Given the description of an element on the screen output the (x, y) to click on. 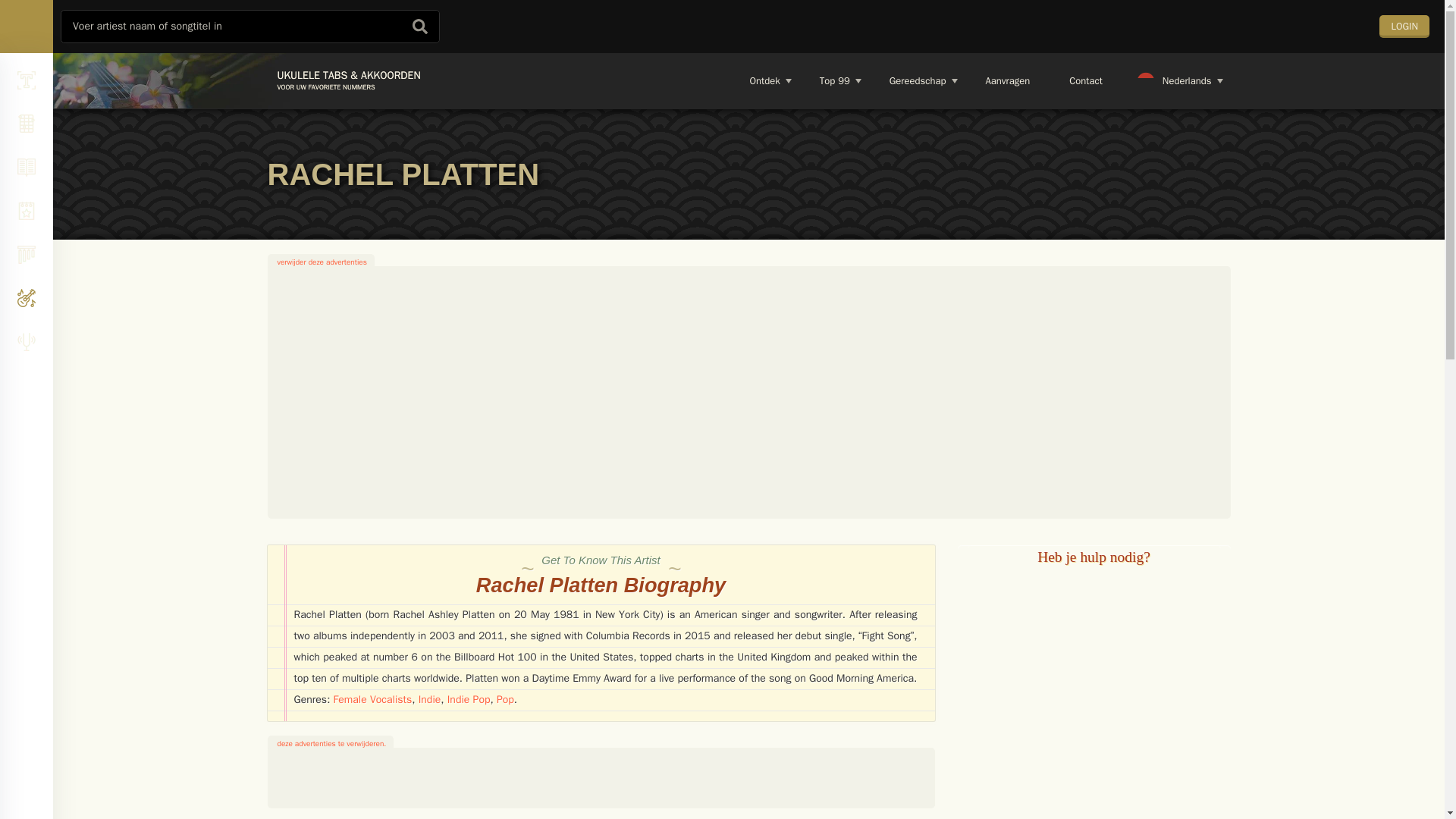
Top 99 (834, 80)
Top 99 liedjes op UkuTabs (834, 80)
LOGIN (1403, 26)
ukulele liedjes ontdekken (764, 80)
Ontdek (764, 80)
ukelele gereedschap (917, 80)
